Given the description of an element on the screen output the (x, y) to click on. 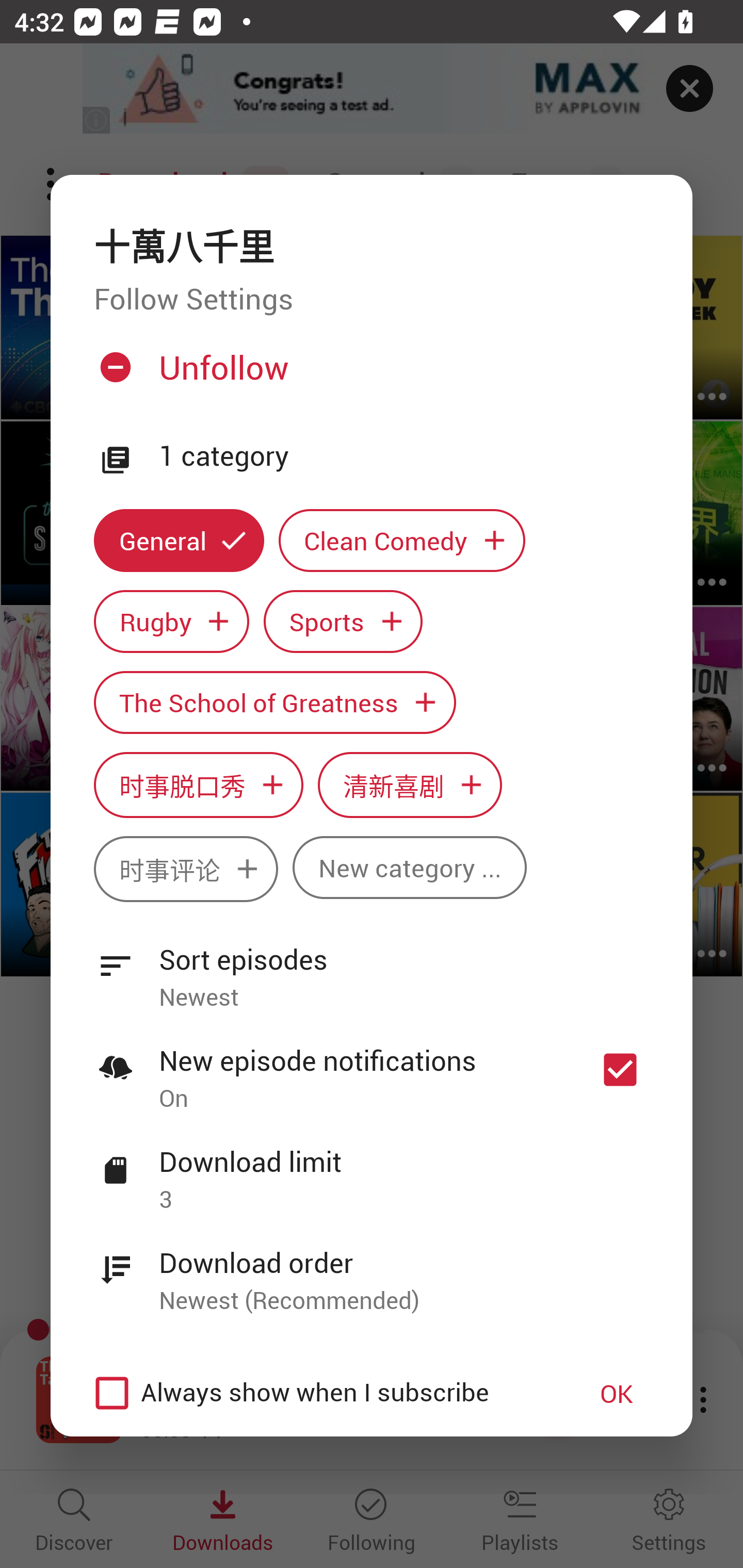
Unfollow (369, 374)
1 category (404, 455)
General (178, 540)
Clean Comedy (401, 540)
Rugby (170, 620)
Sports (342, 620)
The School of Greatness (274, 702)
时事脱口秀 (198, 785)
清新喜剧 (410, 785)
时事评论 (185, 868)
New category ... (409, 866)
Sort episodes Newest (371, 967)
New episode notifications (620, 1070)
Download limit 3 (371, 1168)
Download order Newest (Recommended) (371, 1269)
OK (616, 1393)
Always show when I subscribe (320, 1393)
